Given the description of an element on the screen output the (x, y) to click on. 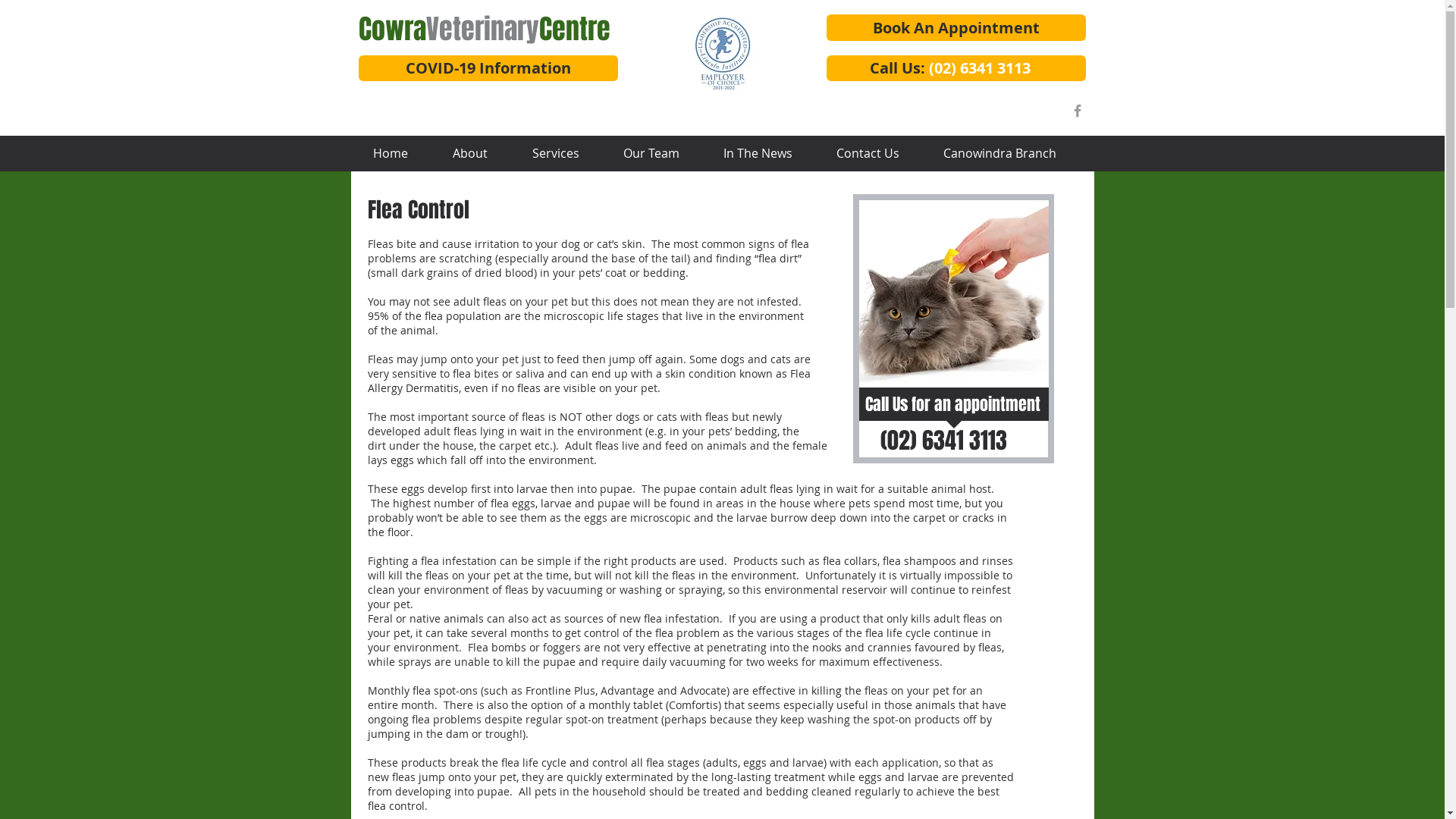
In The News Element type: text (756, 153)
About Element type: text (470, 153)
Home Element type: text (389, 153)
Services Element type: text (554, 153)
COVID-19 Information Element type: text (487, 68)
Book An Appointment Element type: text (955, 27)
Canowindra Branch Element type: text (998, 153)
Our Team Element type: text (650, 153)
Contact Us Element type: text (867, 153)
Protect The Cat From Ticks And Fleas.jpg Element type: hover (953, 293)
